Given the description of an element on the screen output the (x, y) to click on. 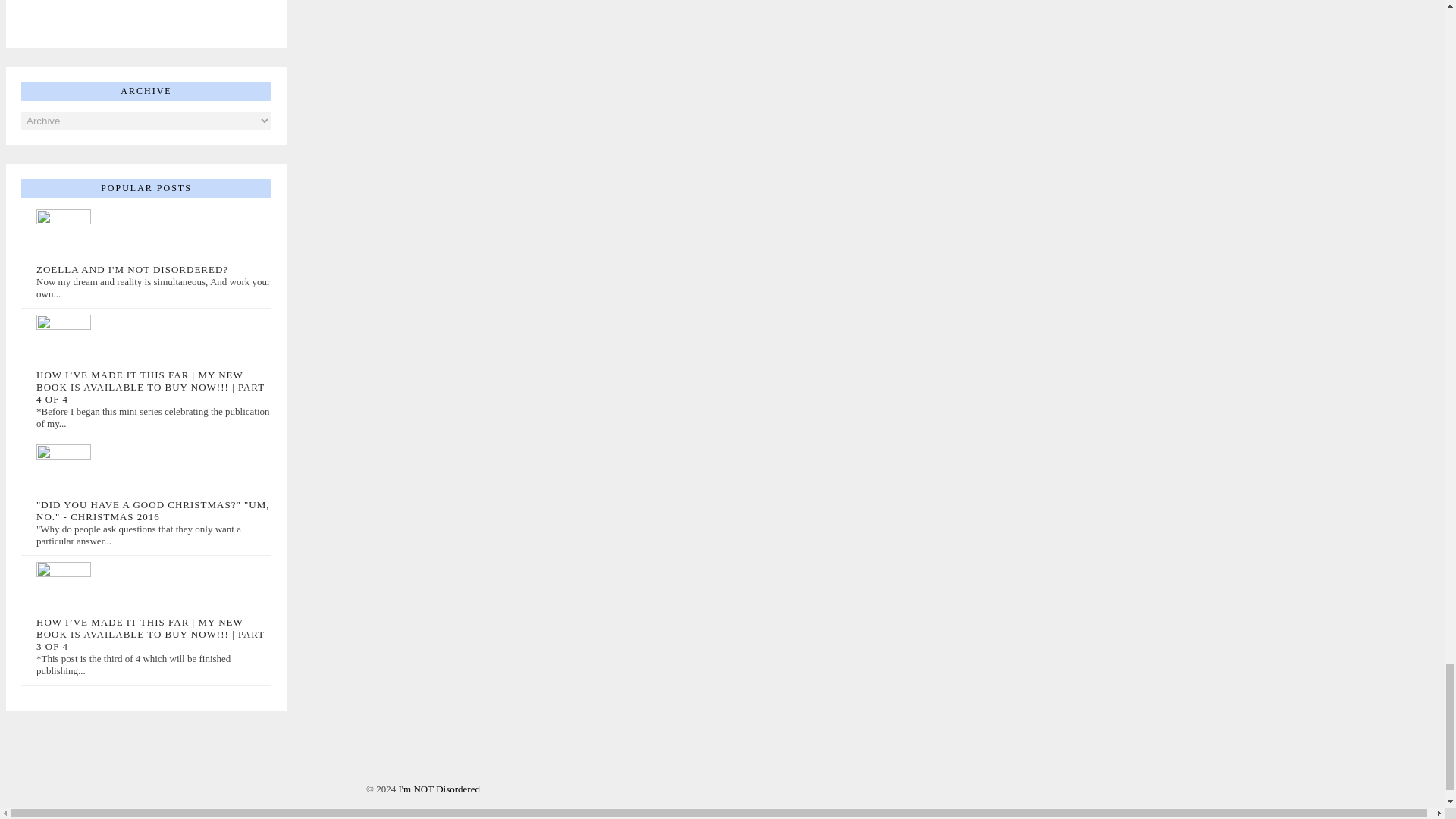
ZOELLA AND I'M NOT DISORDERED? (132, 269)
